Given the description of an element on the screen output the (x, y) to click on. 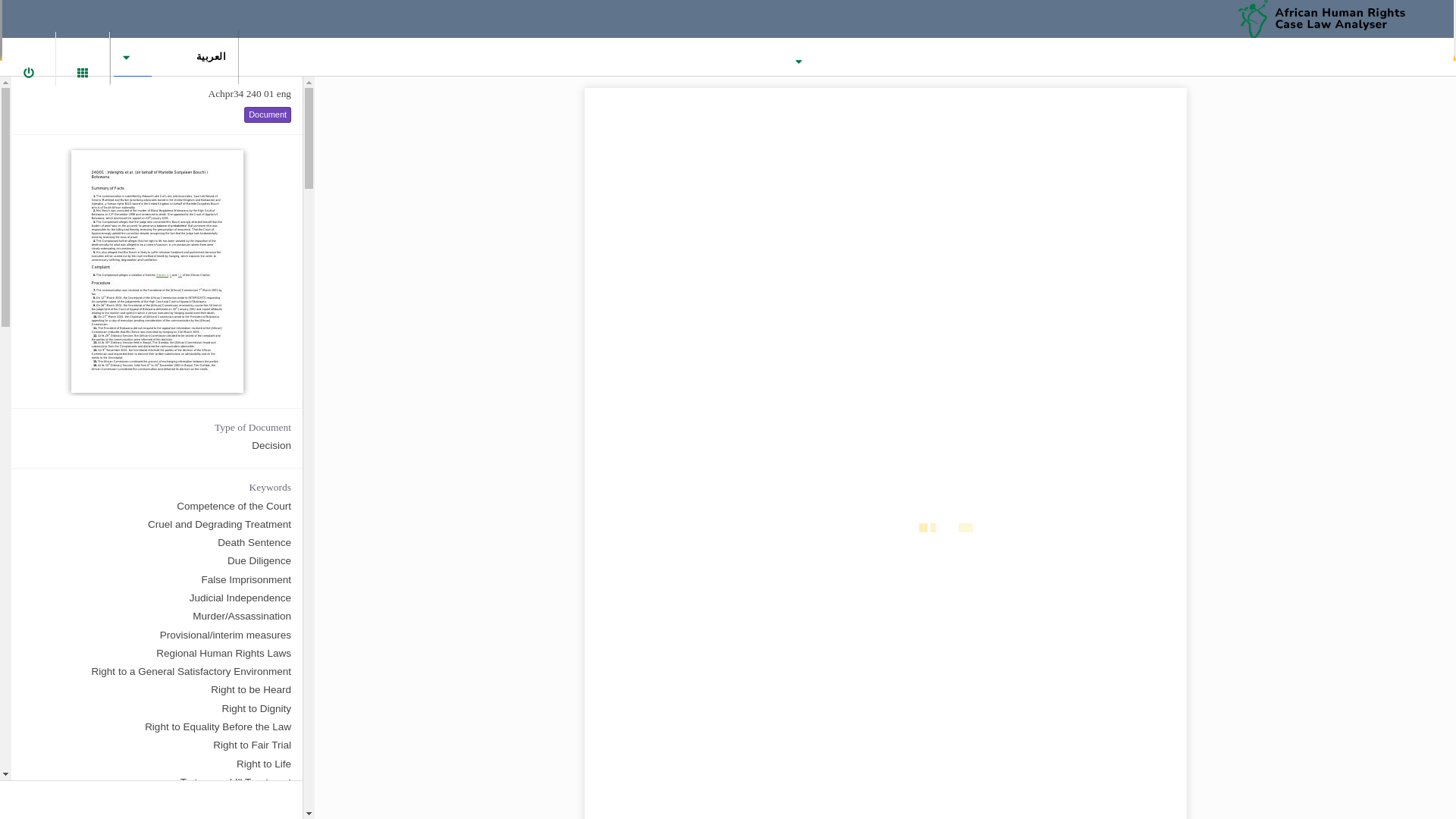
African Human Rights CLA 2.0 (1332, 18)
